Given the description of an element on the screen output the (x, y) to click on. 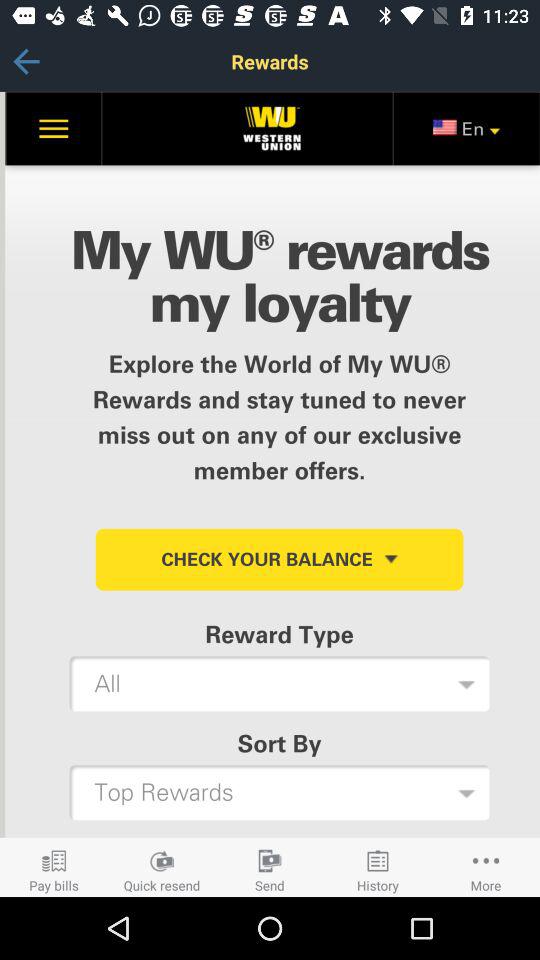
go back (26, 61)
